Given the description of an element on the screen output the (x, y) to click on. 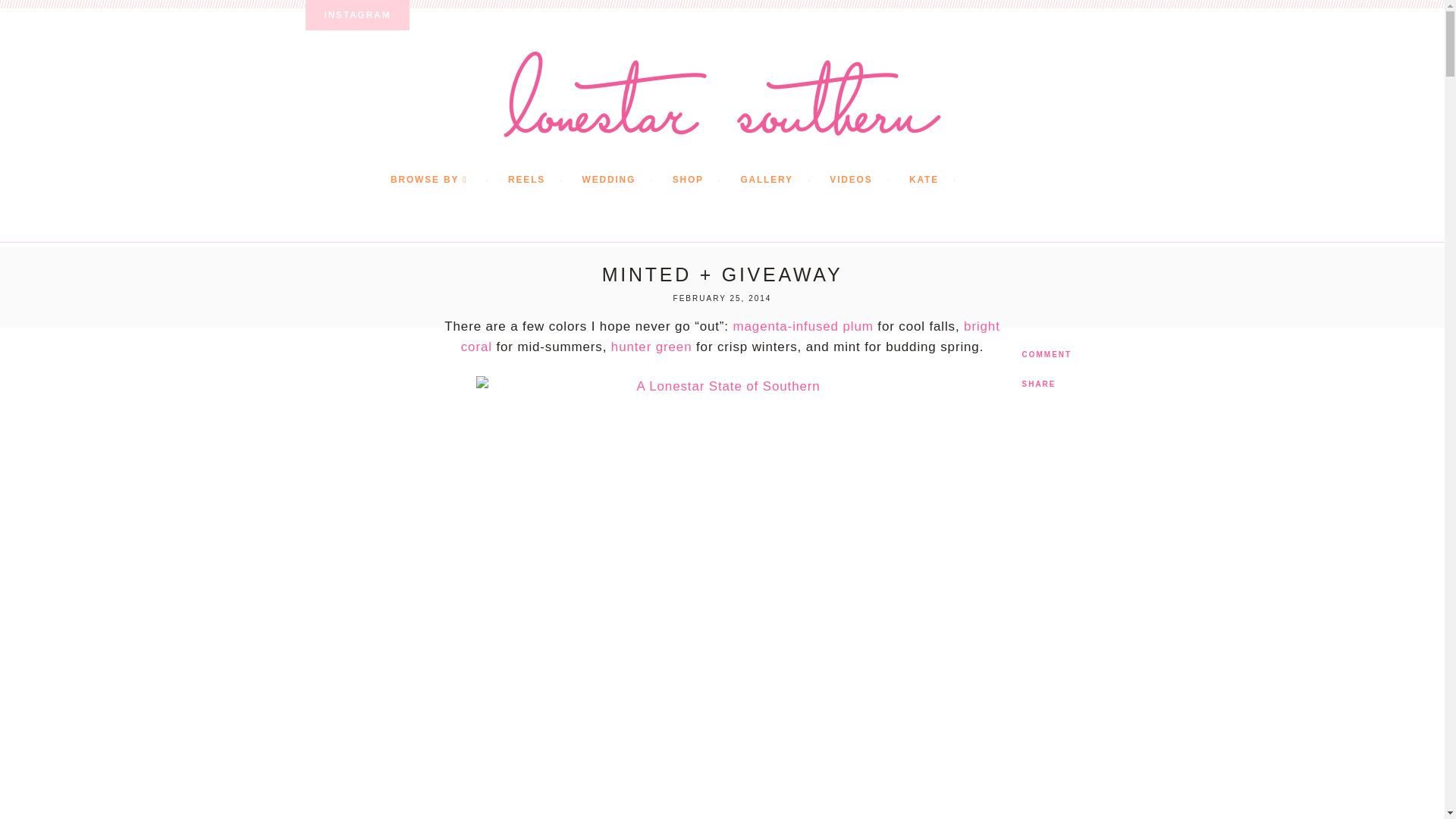
The Cozied Collegiate (652, 346)
INSTAGRAM (356, 15)
REELS (543, 179)
KATE (939, 179)
Radiant Orchid (803, 326)
